Given the description of an element on the screen output the (x, y) to click on. 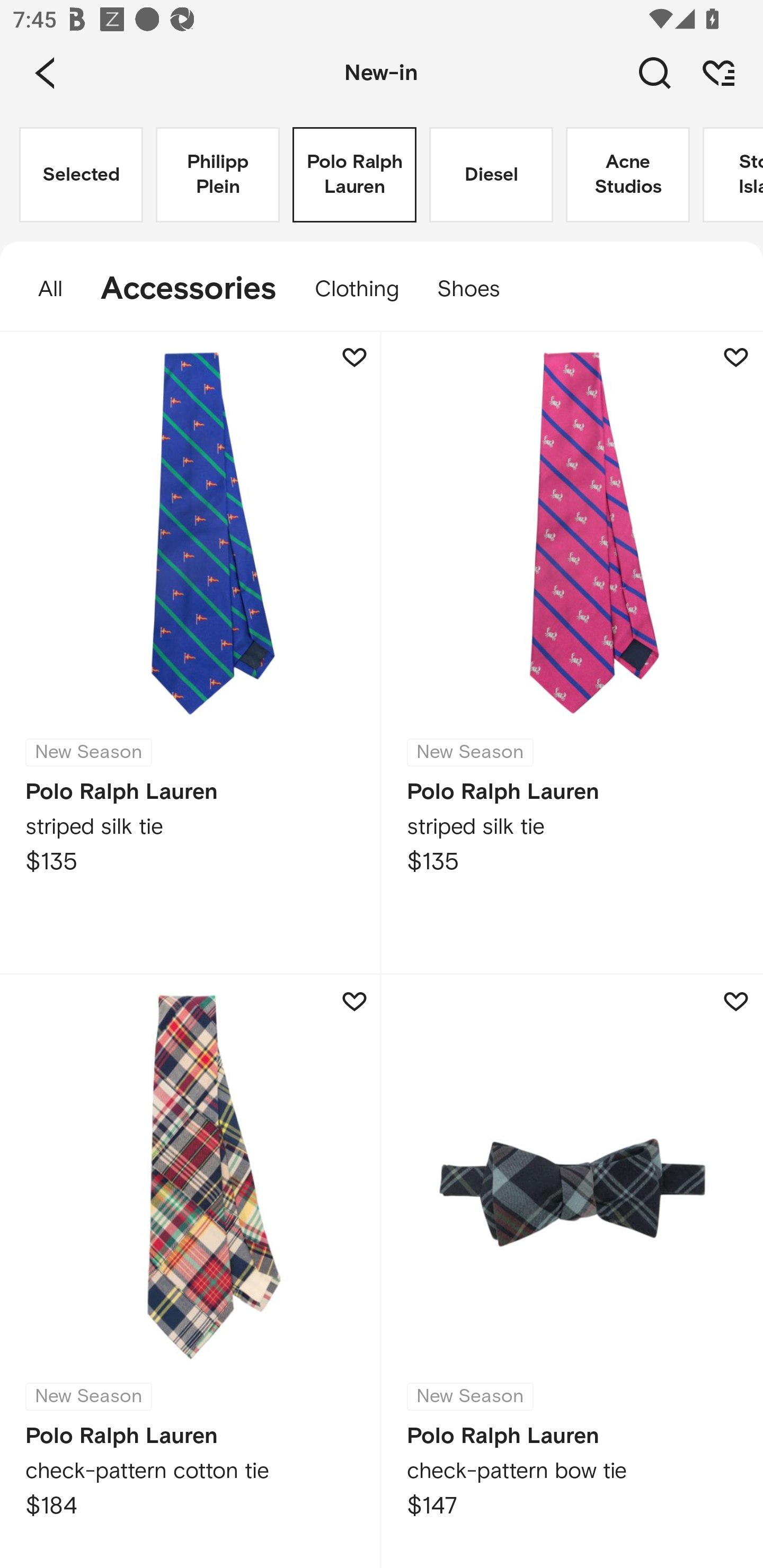
Selected (81, 174)
Philipp Plein (217, 174)
Polo Ralph Lauren (354, 174)
Diesel (490, 174)
Acne Studios (627, 174)
All (40, 288)
Accessories (188, 288)
Clothing (356, 288)
Shoes (478, 288)
New Season Polo Ralph Lauren striped silk tie $135 (190, 652)
New Season Polo Ralph Lauren striped silk tie $135 (572, 652)
